Given the description of an element on the screen output the (x, y) to click on. 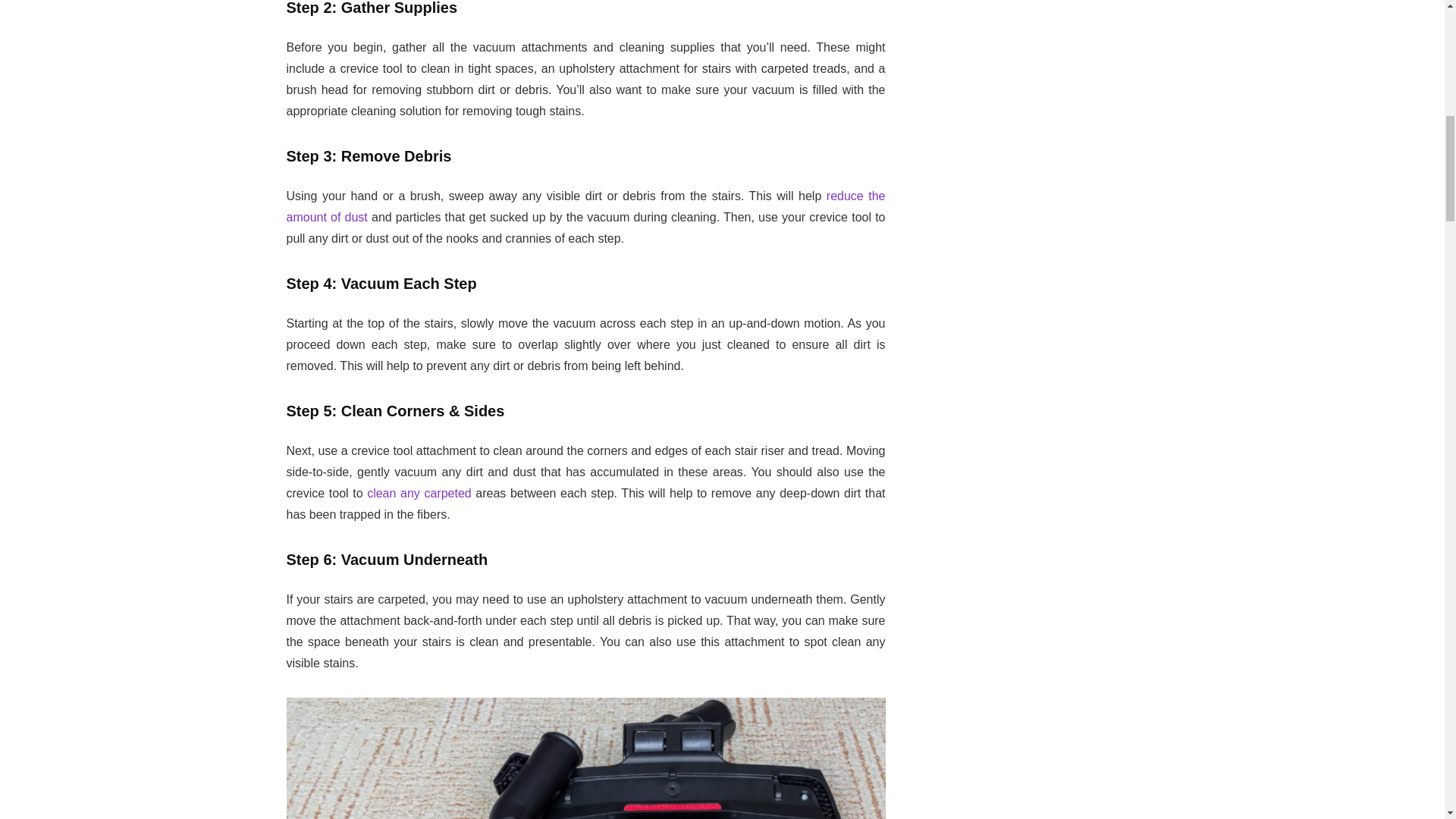
clean any carpeted (418, 492)
reduce the amount of dust (585, 206)
